Given the description of an element on the screen output the (x, y) to click on. 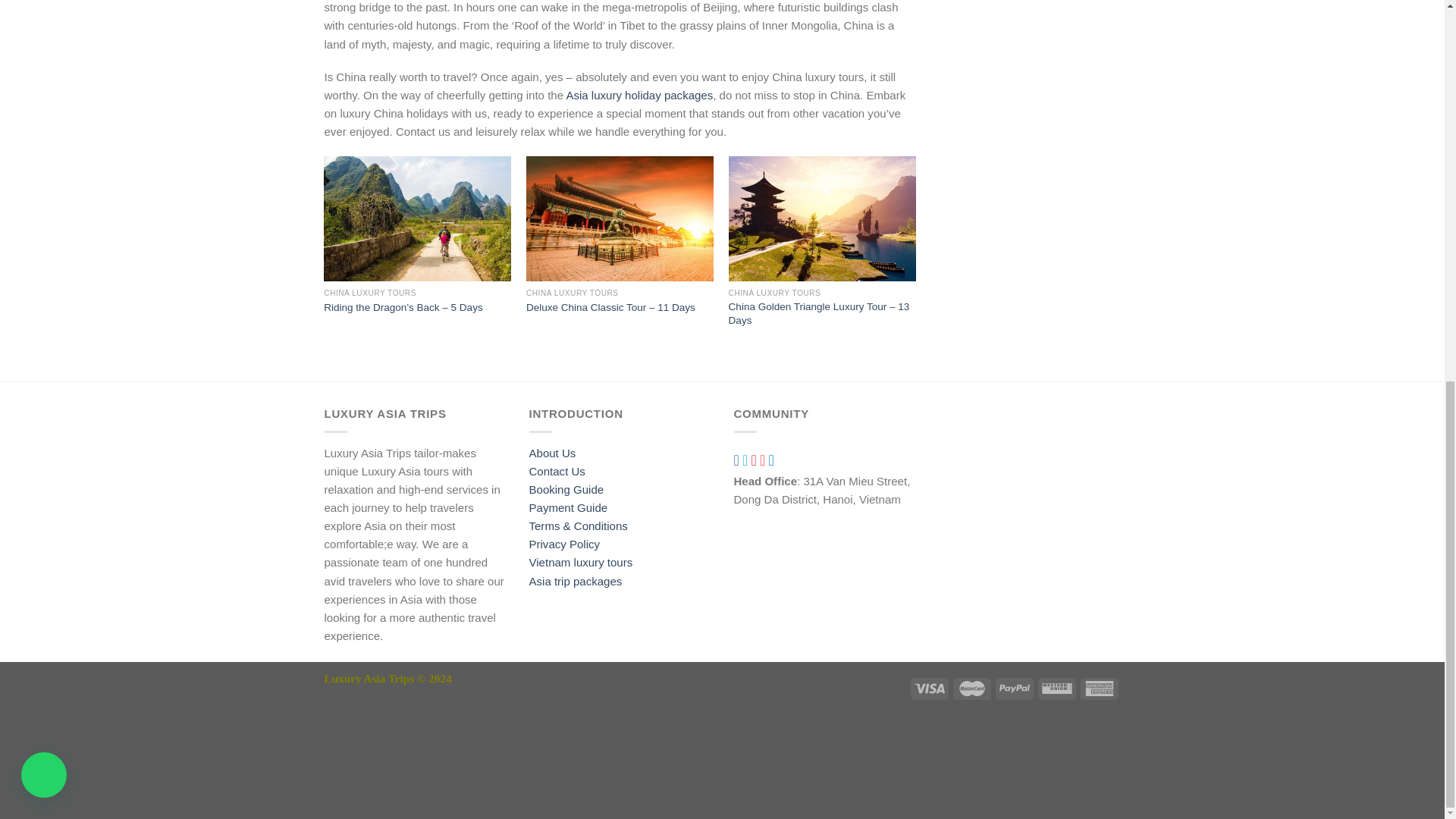
Contact Us (557, 471)
About Us (552, 452)
DMCA Protection Status - Luxury Asia Tour Packages (437, 749)
Asia trip packages (576, 580)
Asia luxury holiday packages (639, 94)
Vietnam luxury tours (581, 562)
